Given the description of an element on the screen output the (x, y) to click on. 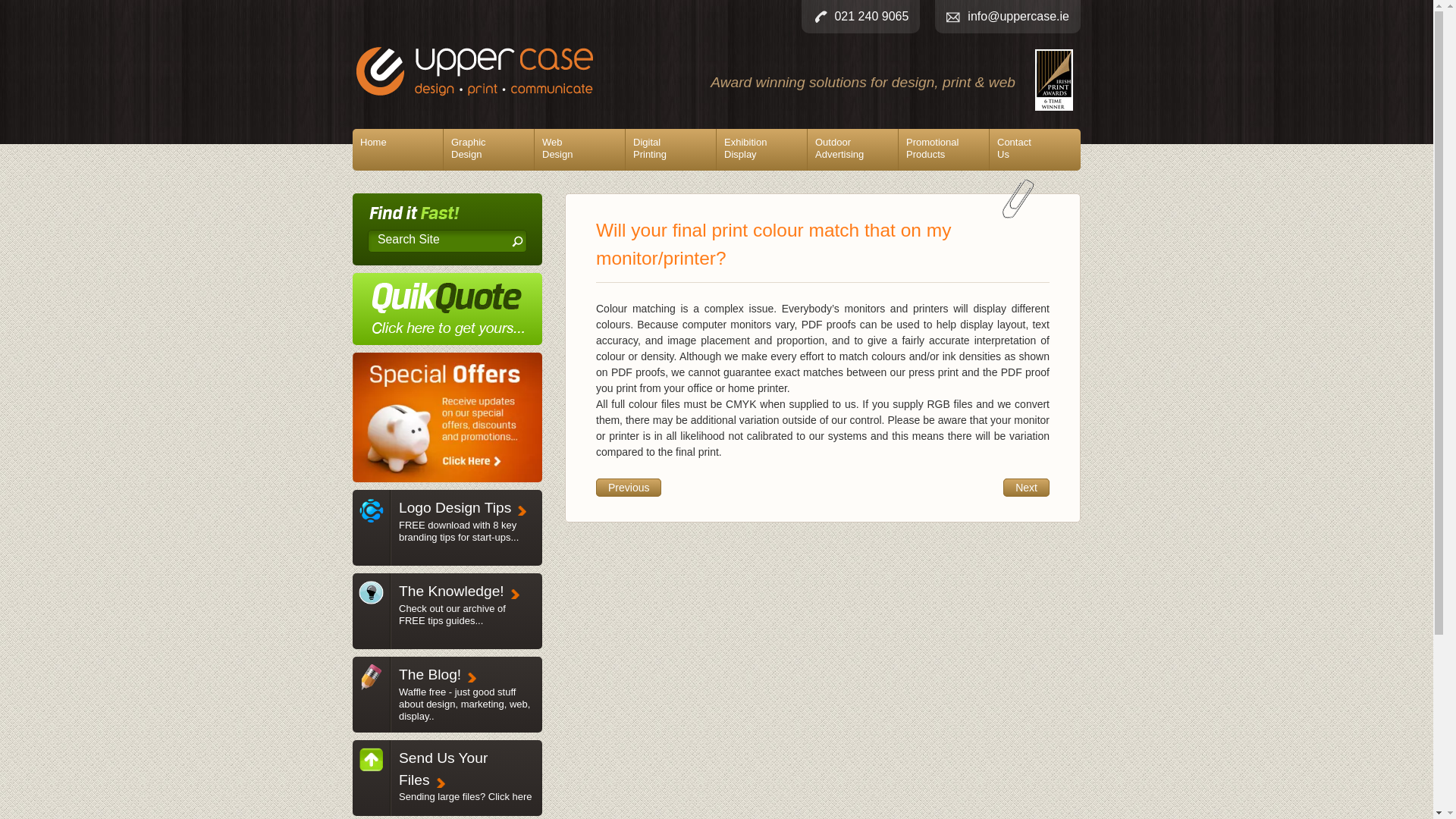
021 240 9065 (762, 149)
The Knowledge! (871, 15)
Logo Design Tips (671, 149)
The Blog! (370, 602)
The Blog! (454, 507)
The Knowledge! (429, 674)
Send Us Your Files (463, 704)
Send Us Your Files (450, 590)
Send Us Your Files (489, 149)
Search Site (580, 149)
Search Site (370, 770)
